Given the description of an element on the screen output the (x, y) to click on. 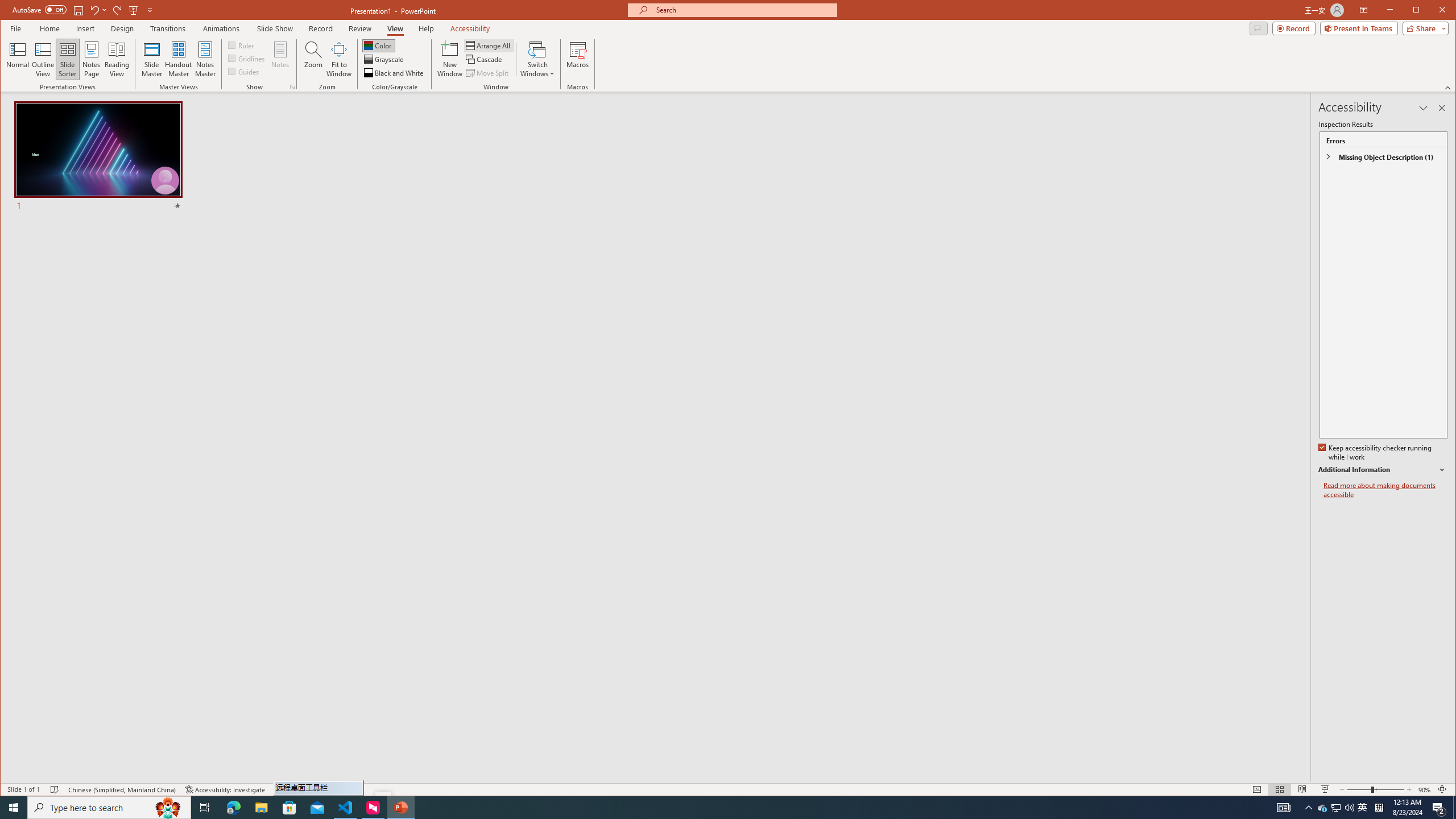
Notes Page (91, 59)
Keep accessibility checker running while I work (1375, 452)
Gridlines (246, 57)
